Given the description of an element on the screen output the (x, y) to click on. 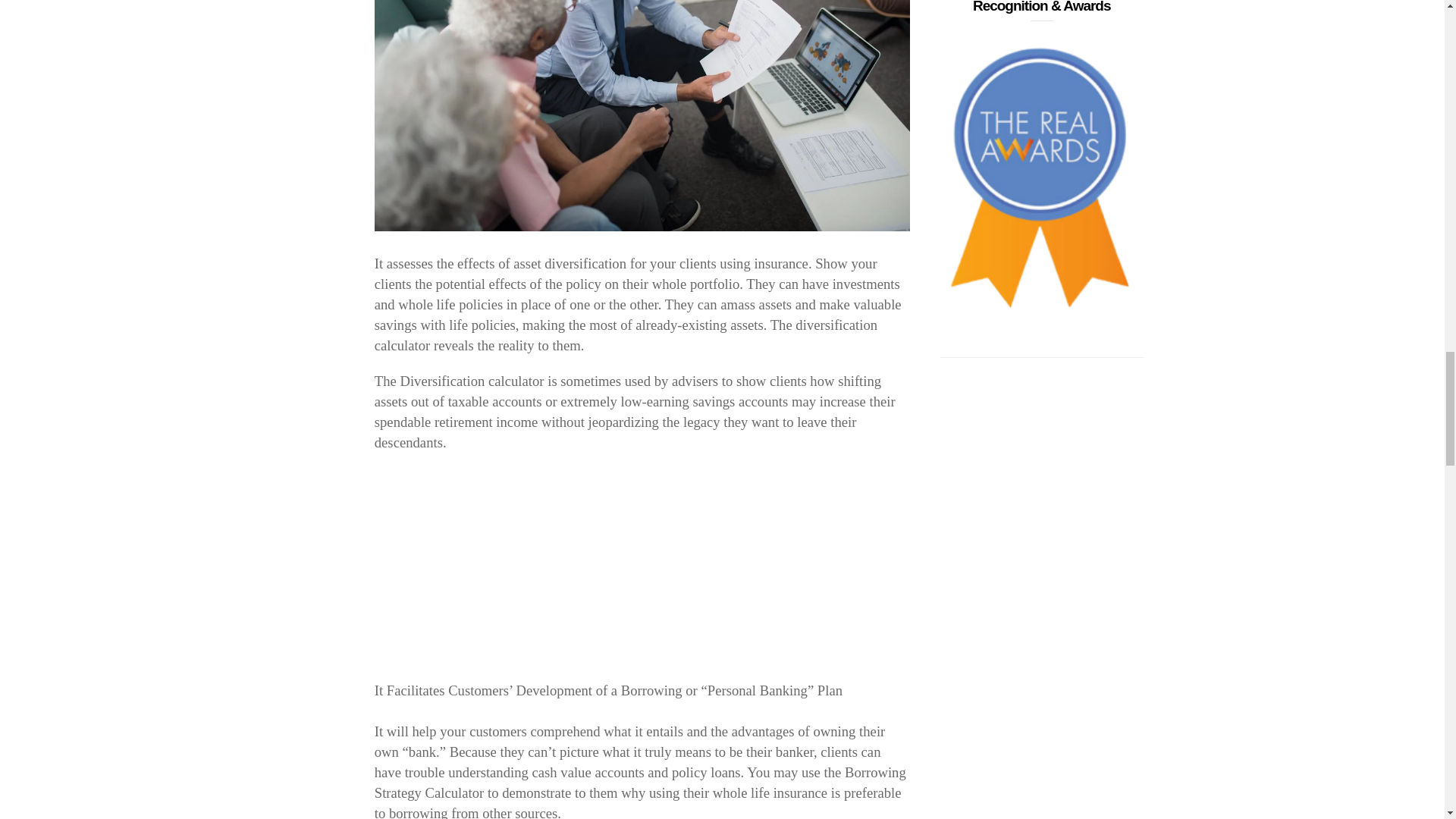
Advertisement (642, 574)
